Given the description of an element on the screen output the (x, y) to click on. 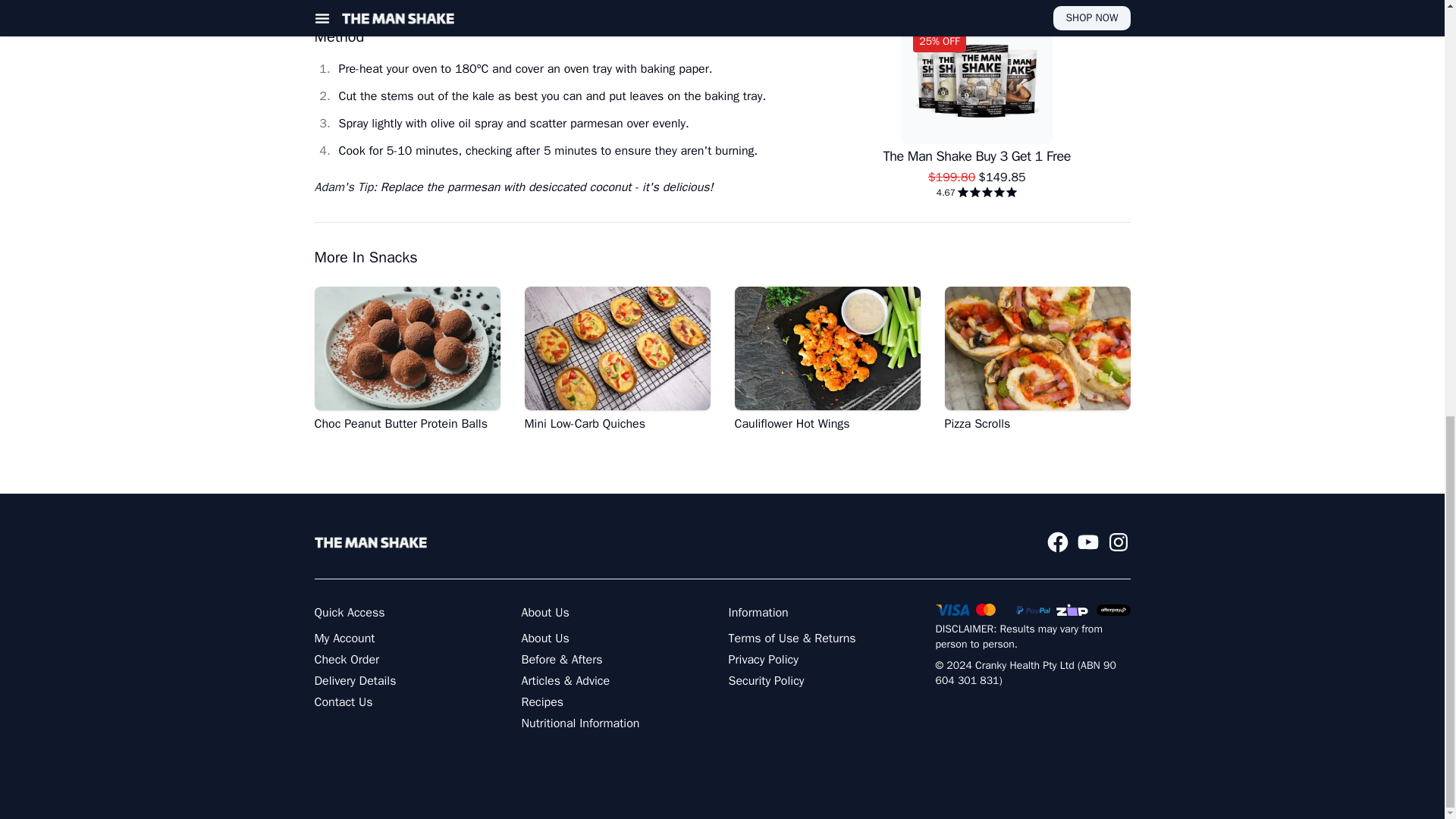
Contact Us (343, 701)
Choc Peanut Butter Protein Balls (406, 359)
Delivery Details (355, 680)
My Account (344, 638)
Afterpay (1113, 610)
Choc Peanut Butter Protein Balls  (406, 359)
About Us (545, 638)
Mini Low-Carb Quiches (617, 359)
Pizza Scrolls (1037, 359)
Recipes (542, 701)
